Given the description of an element on the screen output the (x, y) to click on. 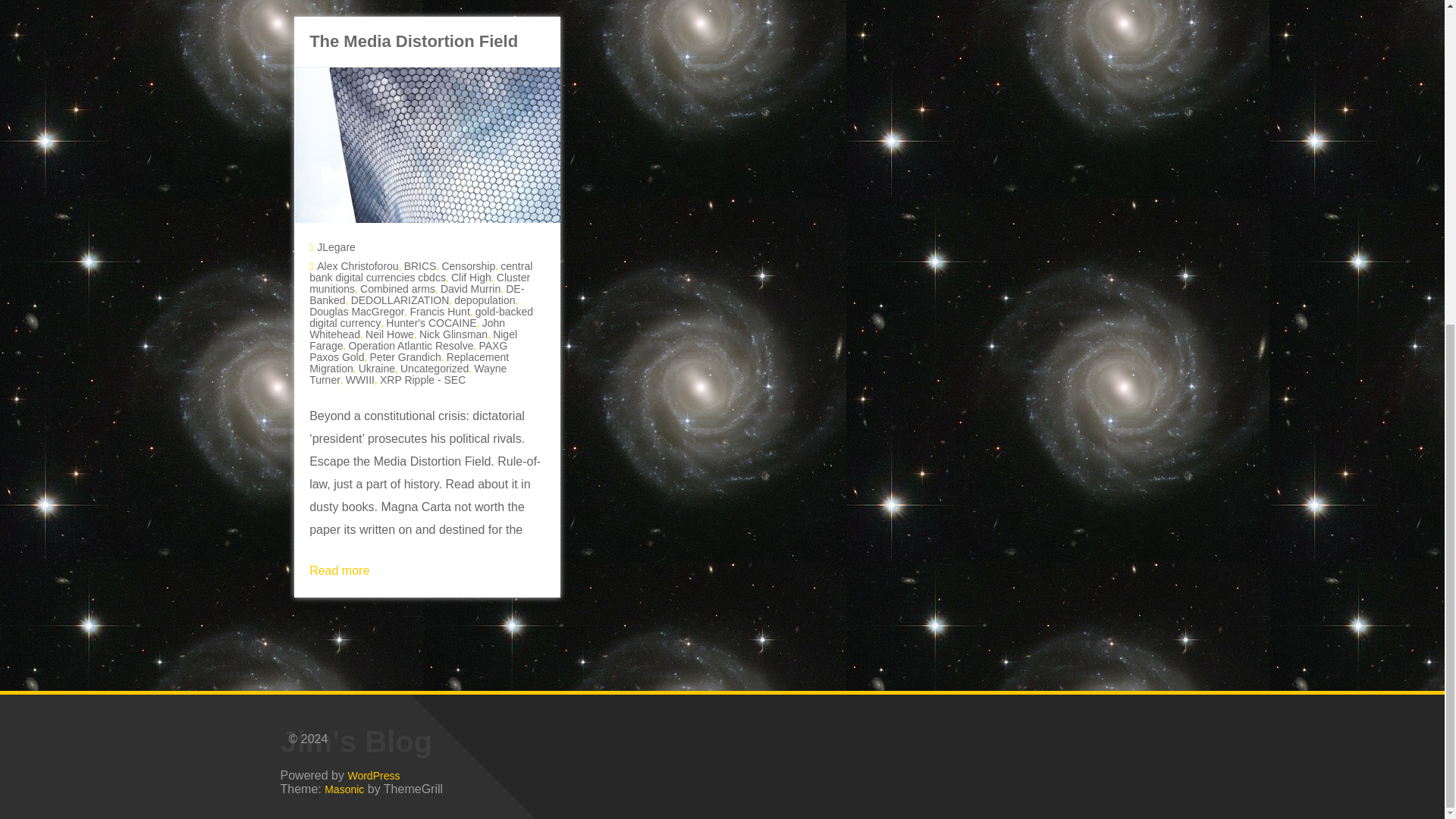
Hunter's COCAINE (430, 322)
Masonic (344, 788)
Clif High (471, 277)
Nick Glinsman (453, 334)
DE-Banked (416, 294)
XRP Ripple - SEC (422, 379)
Uncategorized (434, 368)
The Media Distortion Field (413, 40)
WWIII (360, 379)
Wayne Turner (407, 373)
Nigel Farage (412, 340)
WordPress (372, 775)
David Murrin (470, 288)
Douglas MacGregor (356, 311)
DEDOLLARIZATION (399, 300)
